Given the description of an element on the screen output the (x, y) to click on. 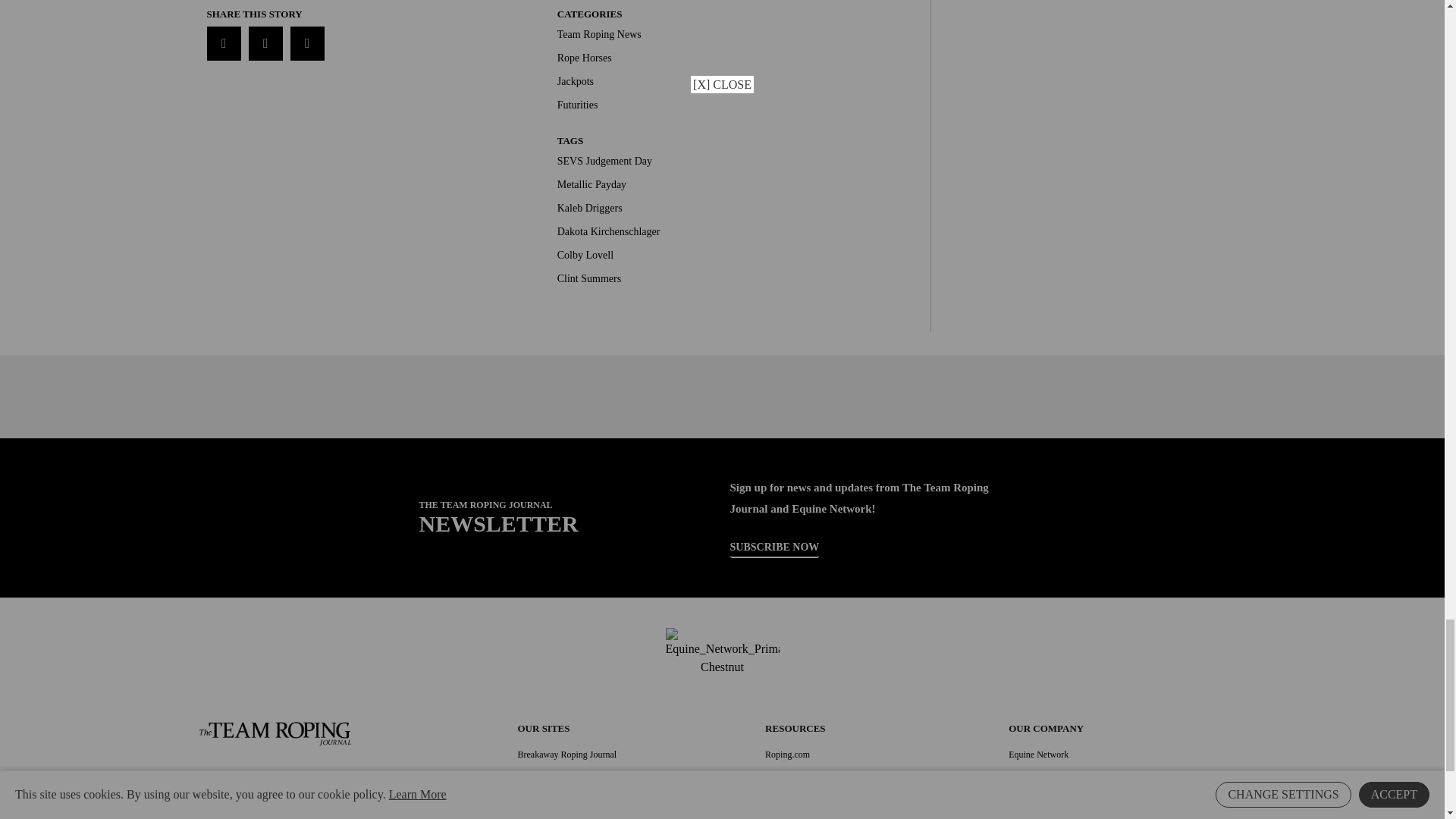
3rd party ad content (721, 396)
